Given the description of an element on the screen output the (x, y) to click on. 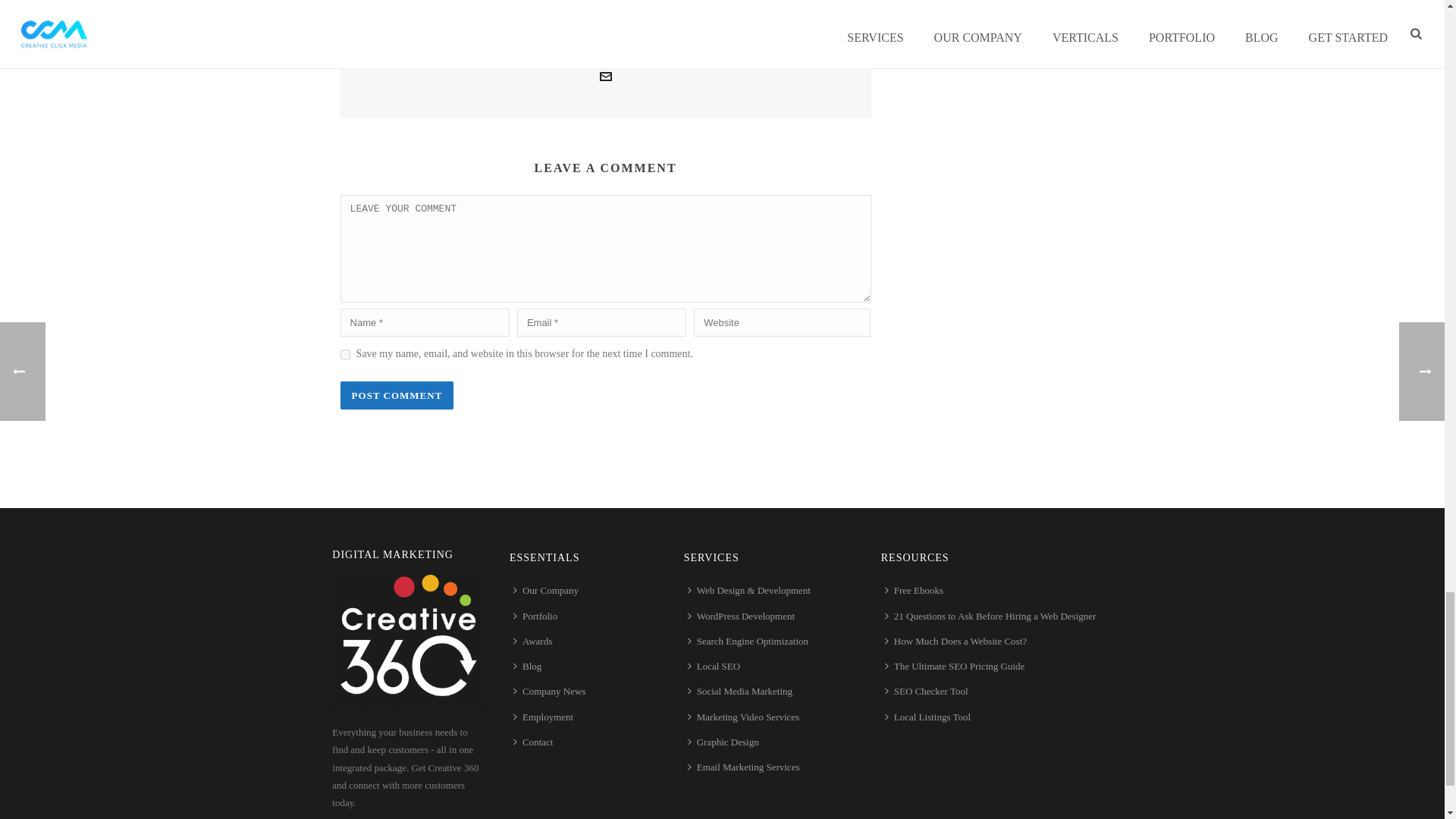
yes (345, 354)
Get in touch with me via email (605, 79)
POST COMMENT (397, 395)
